Given the description of an element on the screen output the (x, y) to click on. 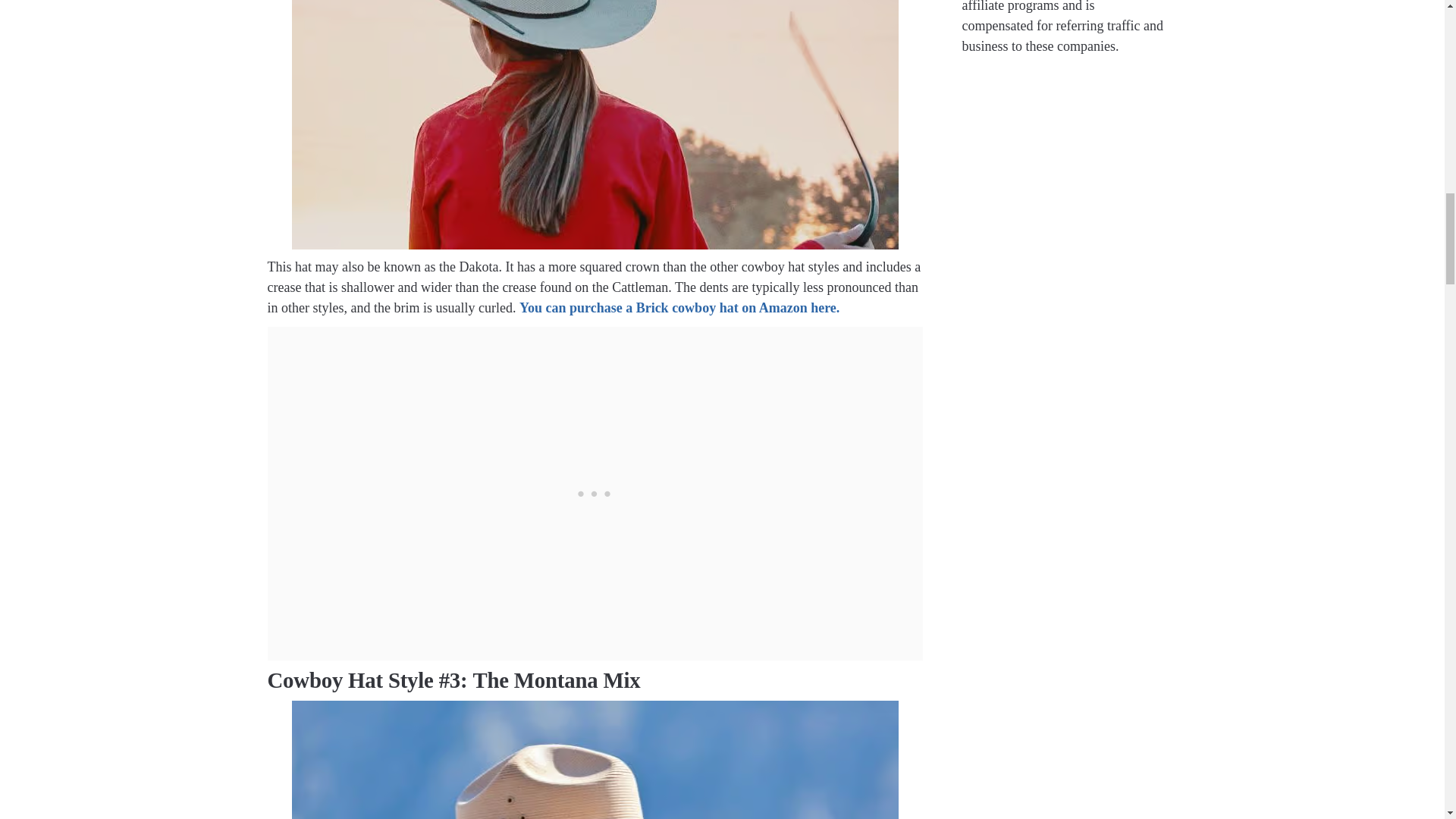
You can purchase a Brick cowboy hat on Amazon here. (679, 307)
